Given the description of an element on the screen output the (x, y) to click on. 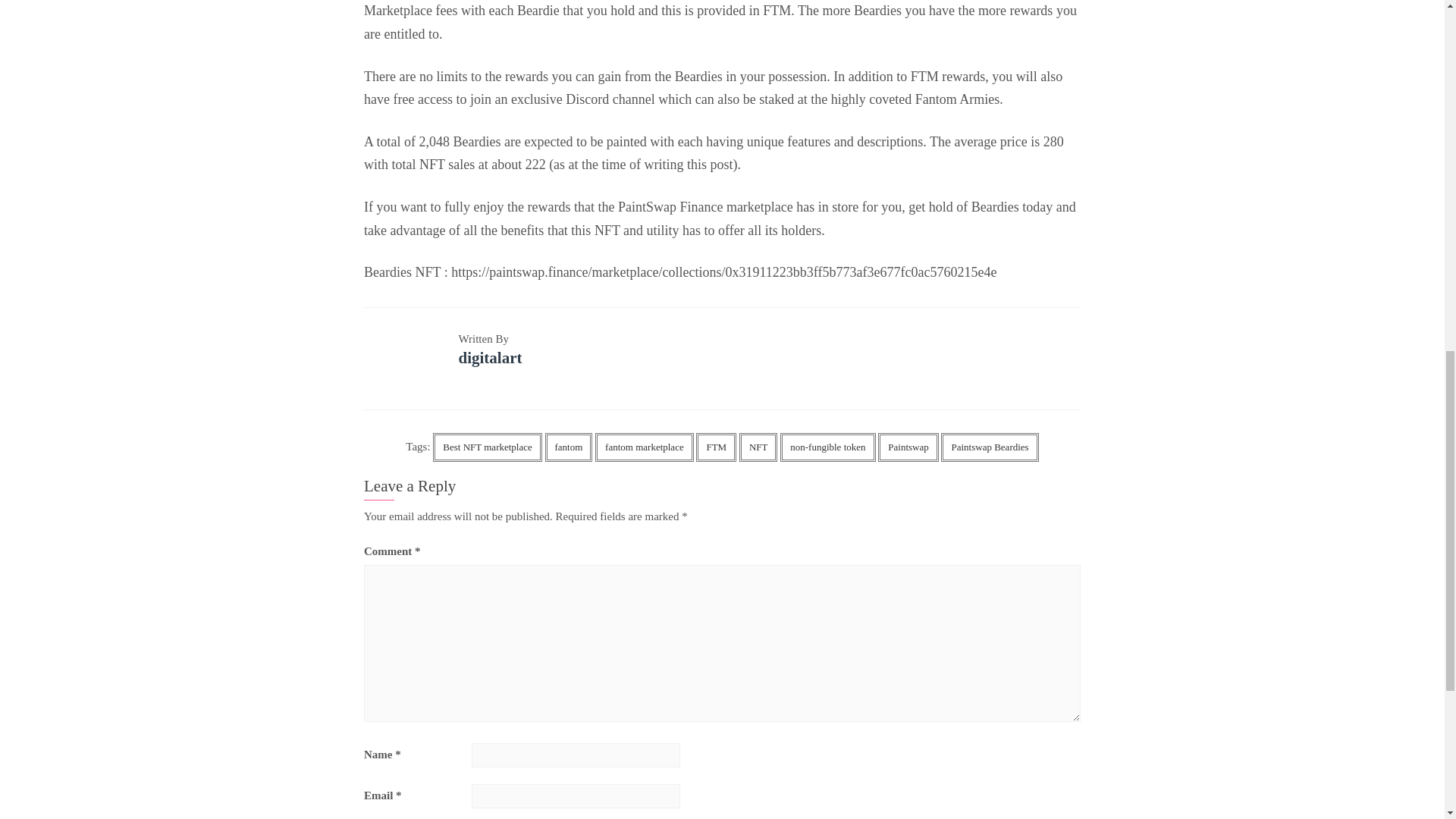
digitalart (489, 357)
NFT (758, 447)
FTM (715, 447)
Best NFT marketplace (486, 447)
non-fungible token (827, 447)
fantom marketplace (644, 447)
Paintswap (907, 447)
digitalart (489, 357)
fantom (568, 447)
Paintswap Beardies (989, 447)
